Given the description of an element on the screen output the (x, y) to click on. 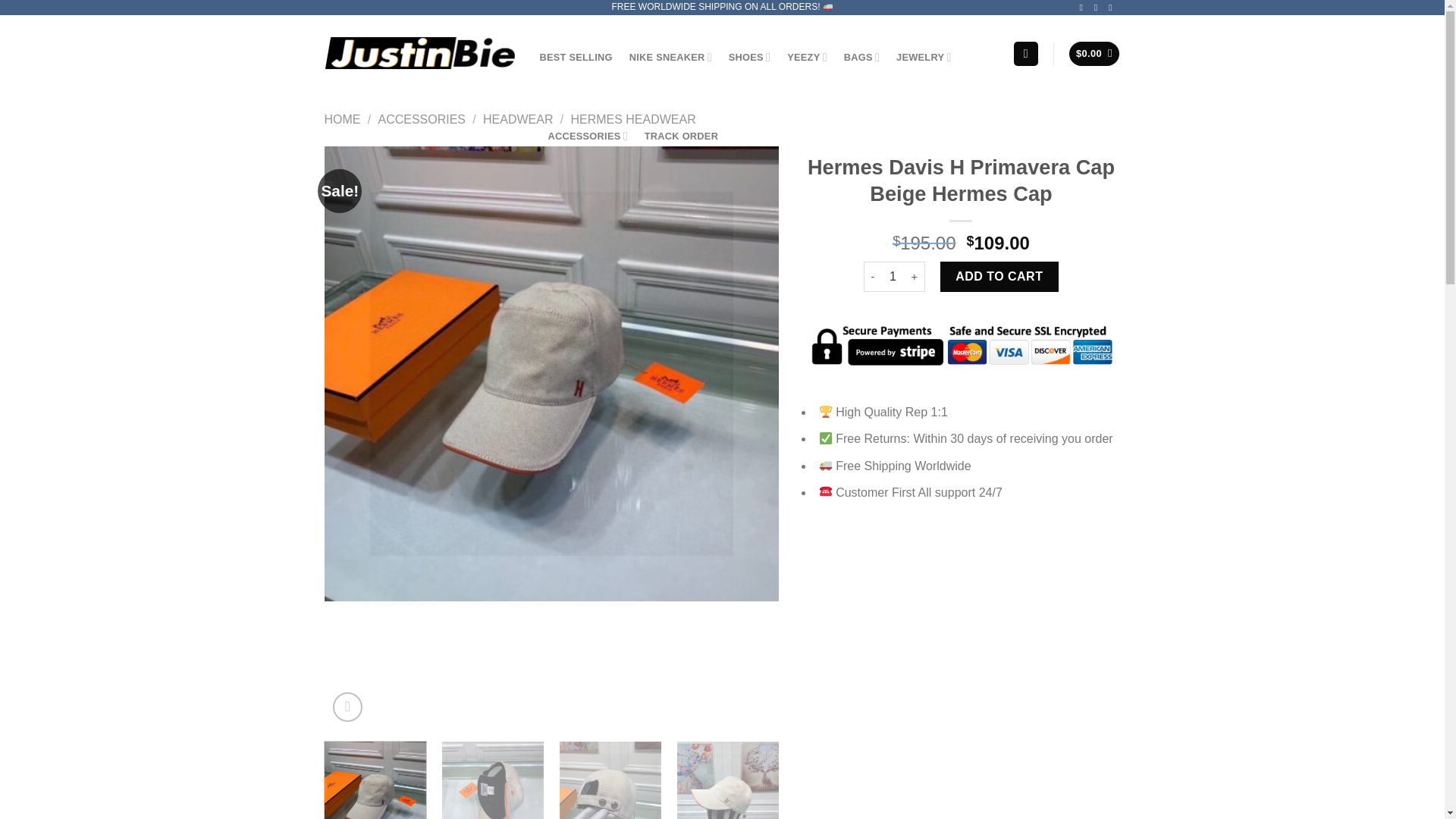
JustinBie Lux - Top Quality Replica Store (420, 52)
Cart (1093, 53)
BEST SELLING (576, 57)
NIKE SNEAKER (669, 57)
